Given the description of an element on the screen output the (x, y) to click on. 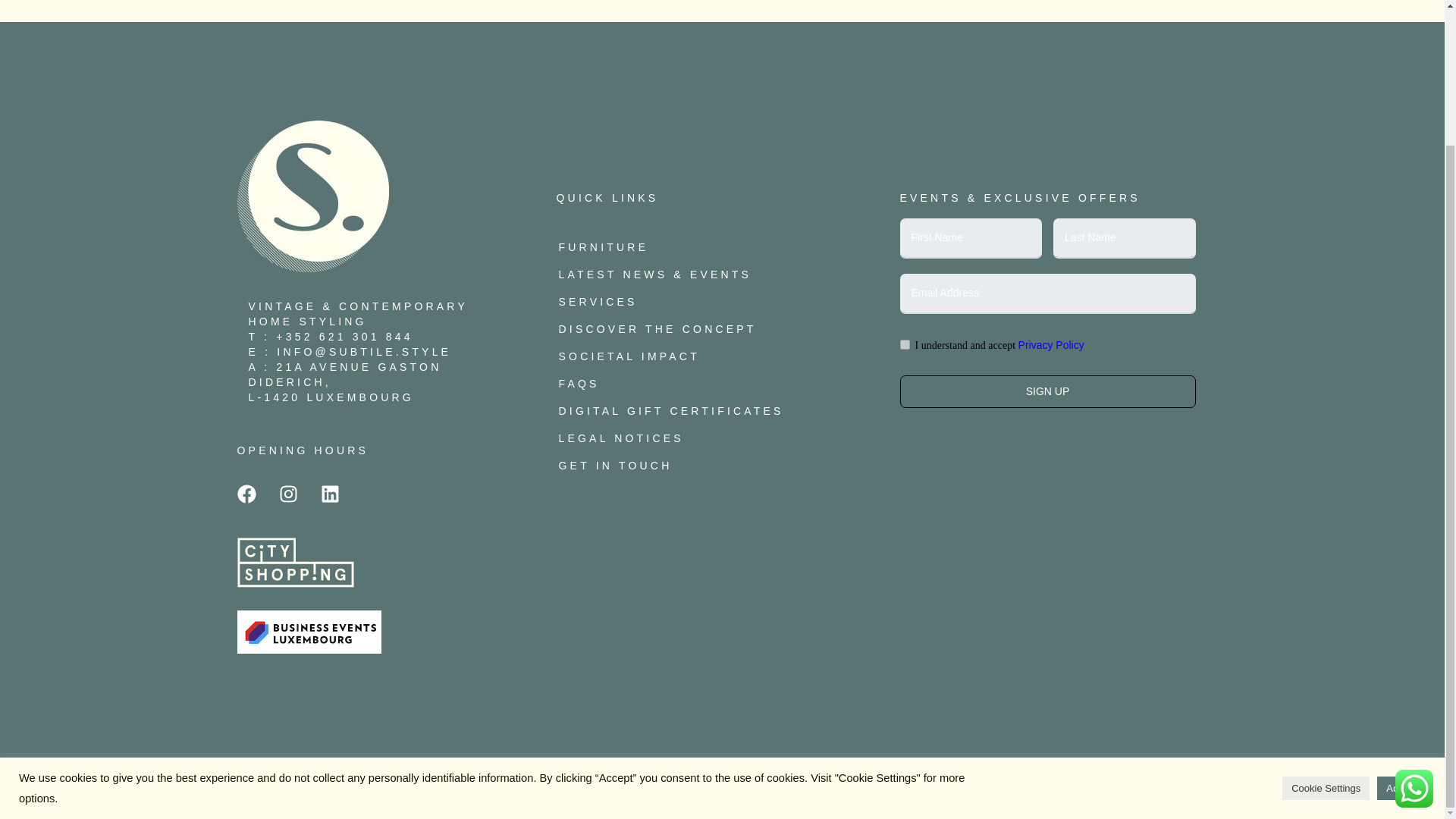
Map (345, 374)
Map (330, 397)
City Shopping (294, 583)
Subtile Light Logo (311, 195)
on (903, 344)
Opening Hours (301, 450)
